Given the description of an element on the screen output the (x, y) to click on. 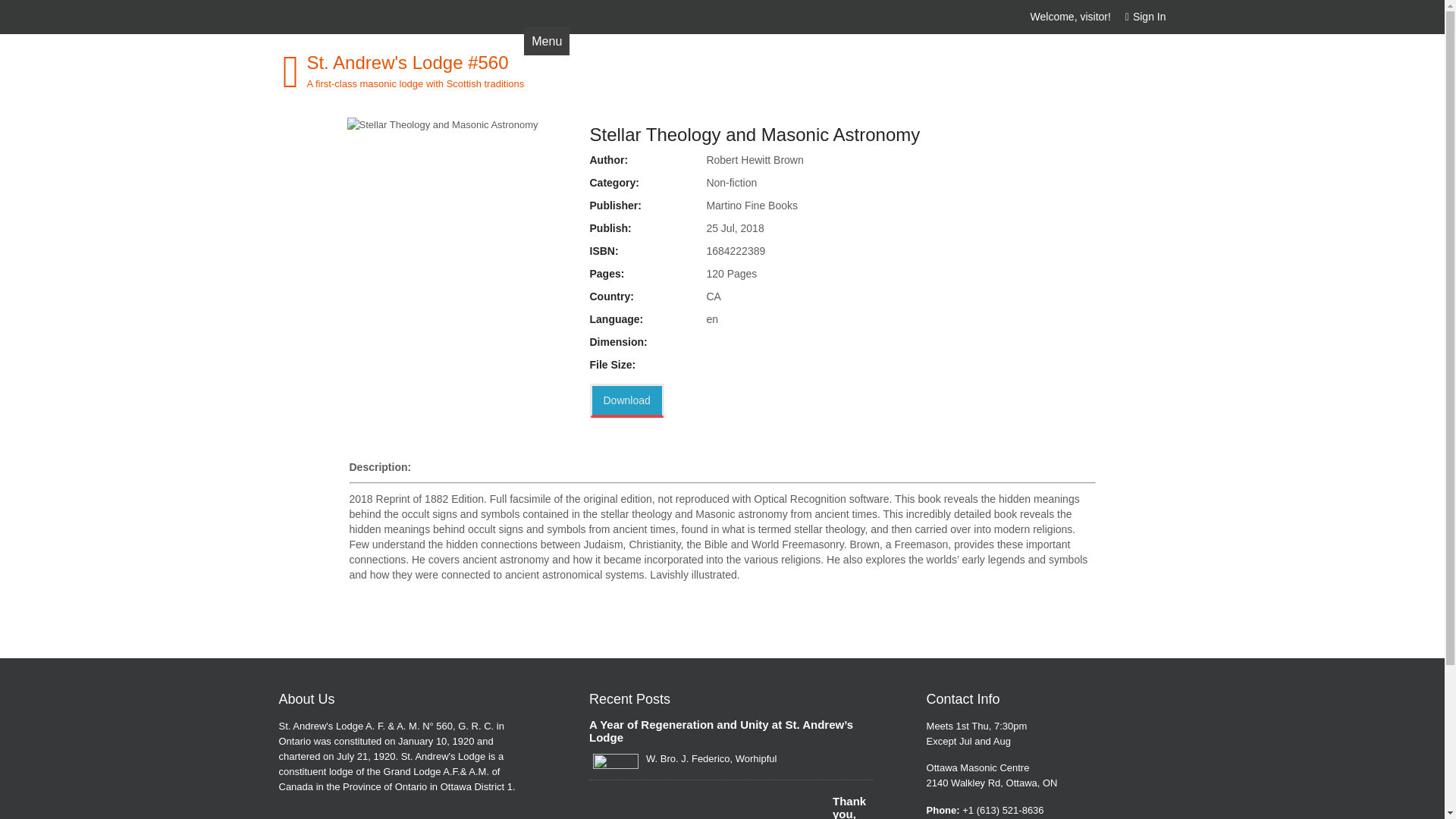
Download (626, 400)
Sign In (1139, 16)
Sign In (1139, 16)
Menu (546, 41)
Thank you, Brethren (730, 807)
